Given the description of an element on the screen output the (x, y) to click on. 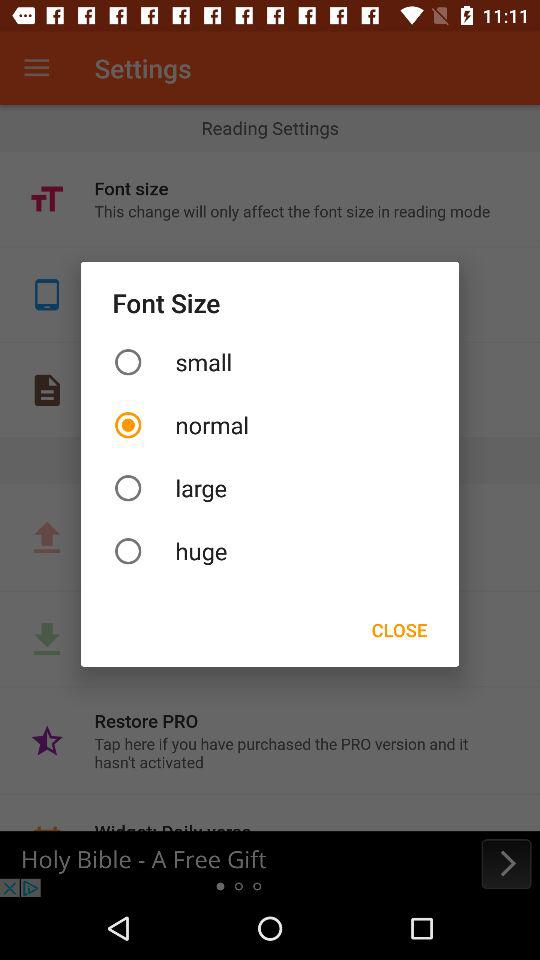
click the item below the huge (399, 629)
